Given the description of an element on the screen output the (x, y) to click on. 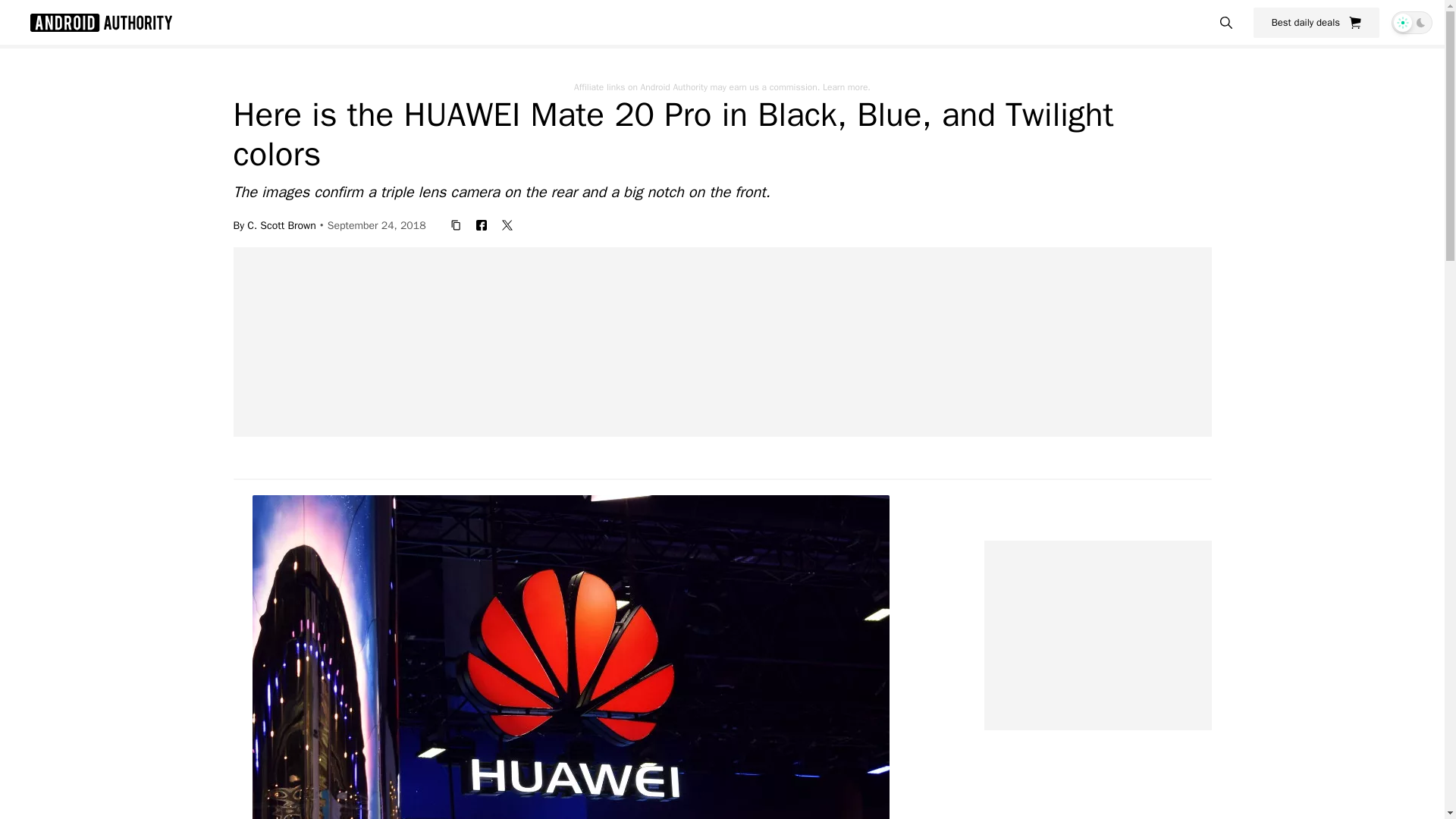
Learn more. (846, 86)
facebook (481, 225)
C. Scott Brown (281, 224)
twitter (507, 225)
Best daily deals (1315, 22)
